Given the description of an element on the screen output the (x, y) to click on. 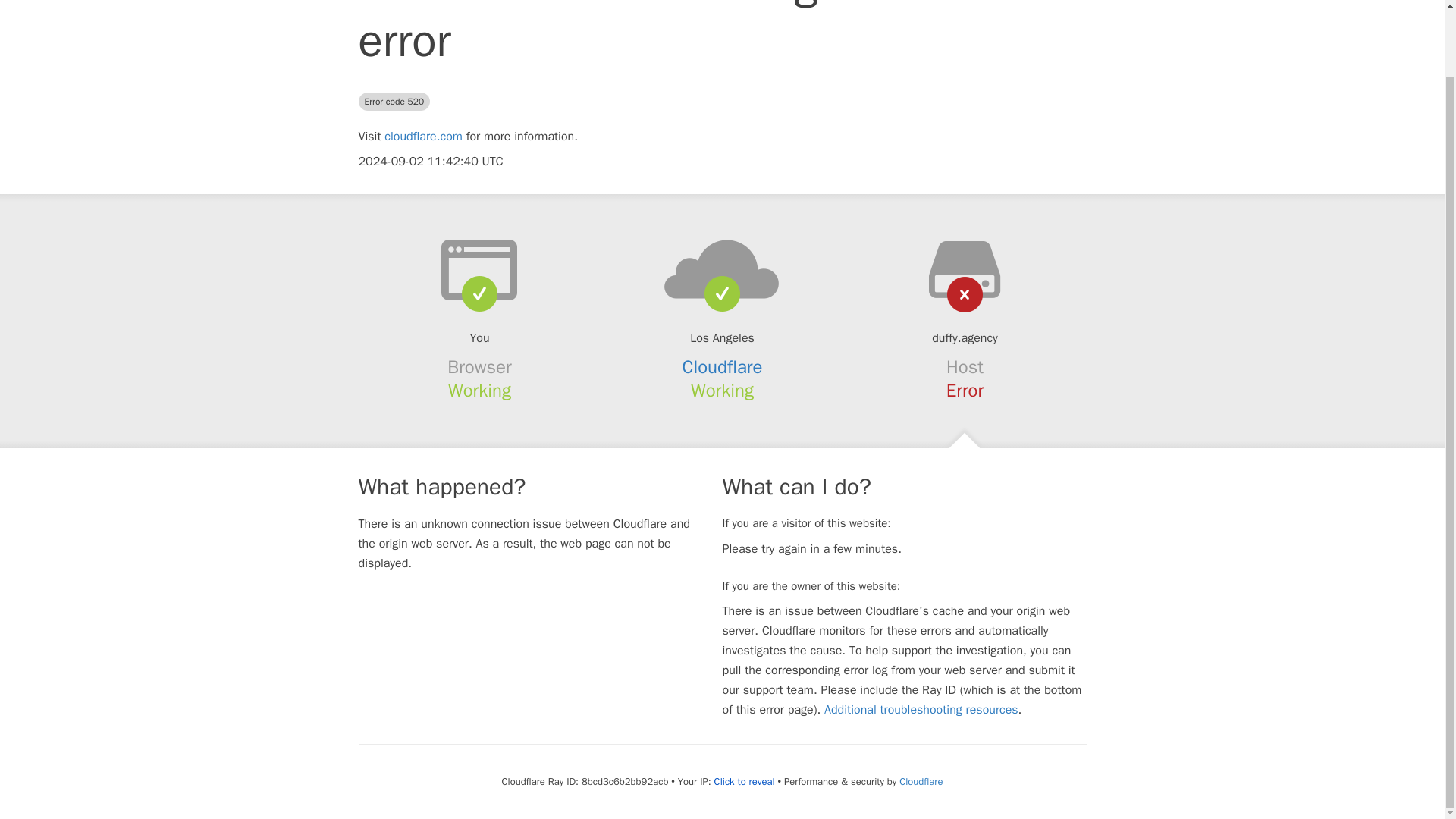
Cloudflare (722, 366)
cloudflare.com (423, 136)
Cloudflare (920, 780)
Additional troubleshooting resources (920, 709)
Click to reveal (744, 781)
